Given the description of an element on the screen output the (x, y) to click on. 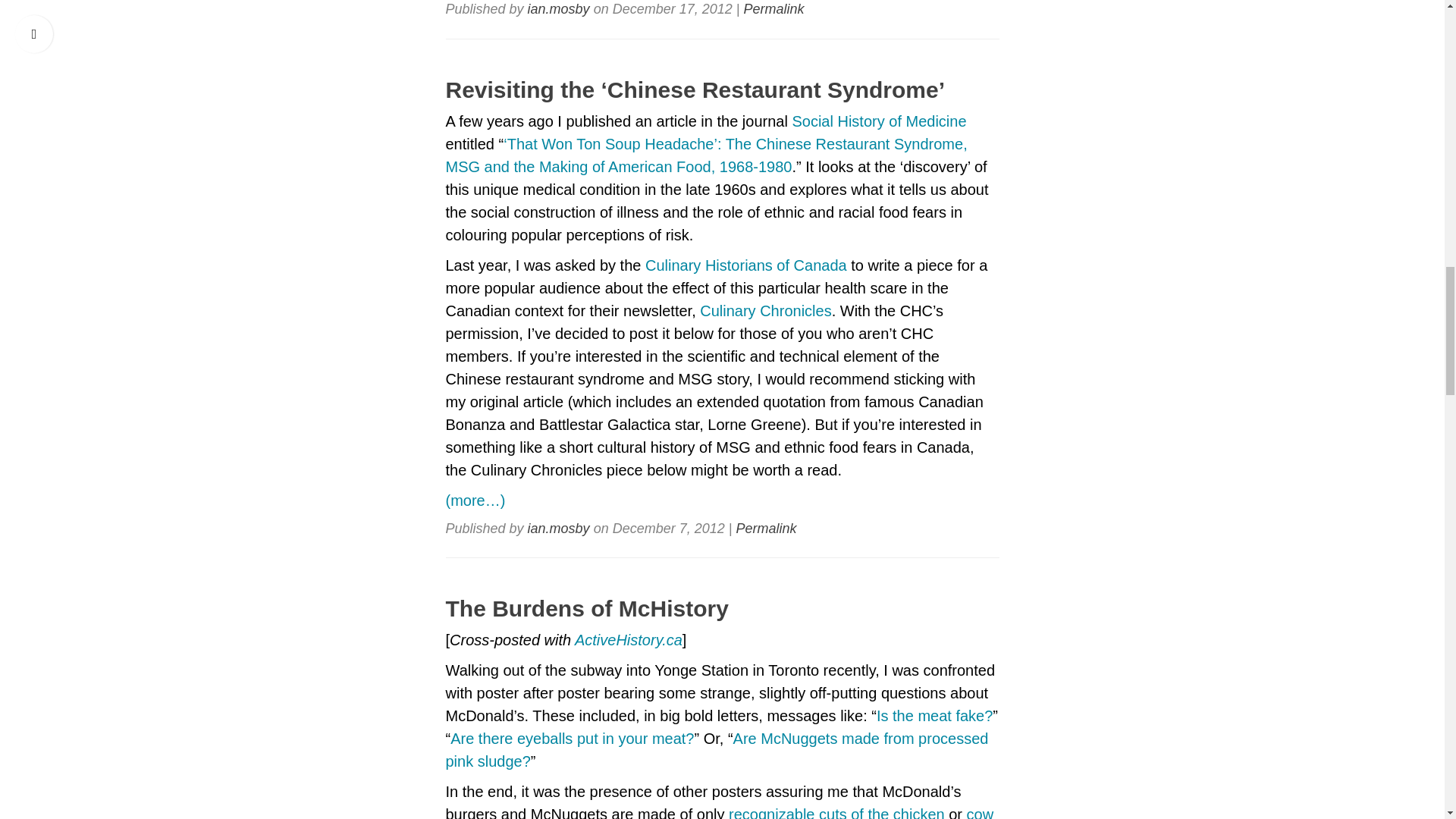
ActiveHistory.ca (628, 639)
The Burdens of McHistory (721, 608)
ian.mosby (558, 527)
Permalink (772, 8)
ian.mosby (558, 8)
Is the meat fake? (934, 715)
Permalink (765, 527)
Culinary Historians of Canada (746, 264)
Social History of Medicine (879, 120)
Culinary Chronicles (765, 310)
